Given the description of an element on the screen output the (x, y) to click on. 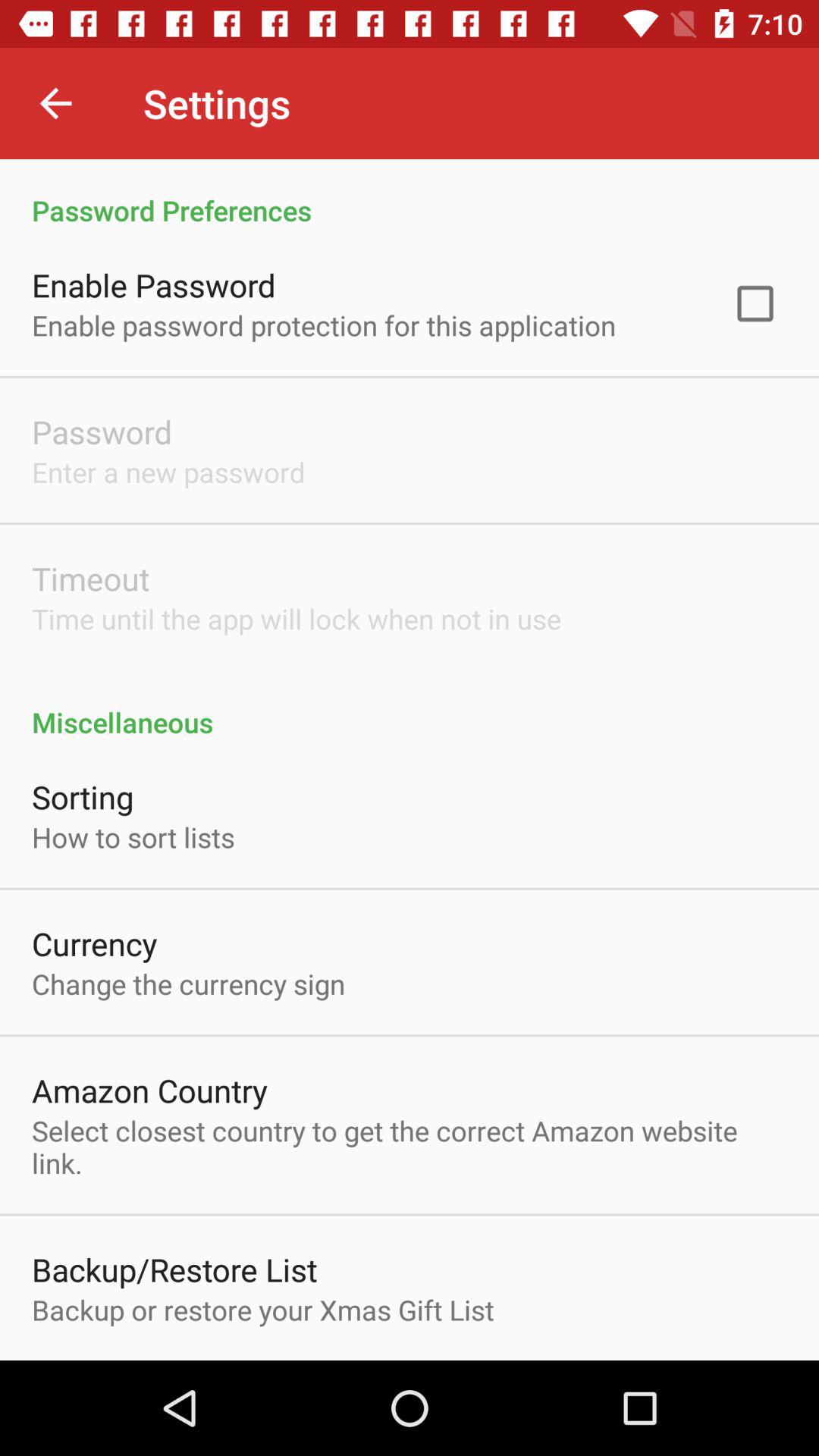
scroll to password preferences icon (409, 194)
